Given the description of an element on the screen output the (x, y) to click on. 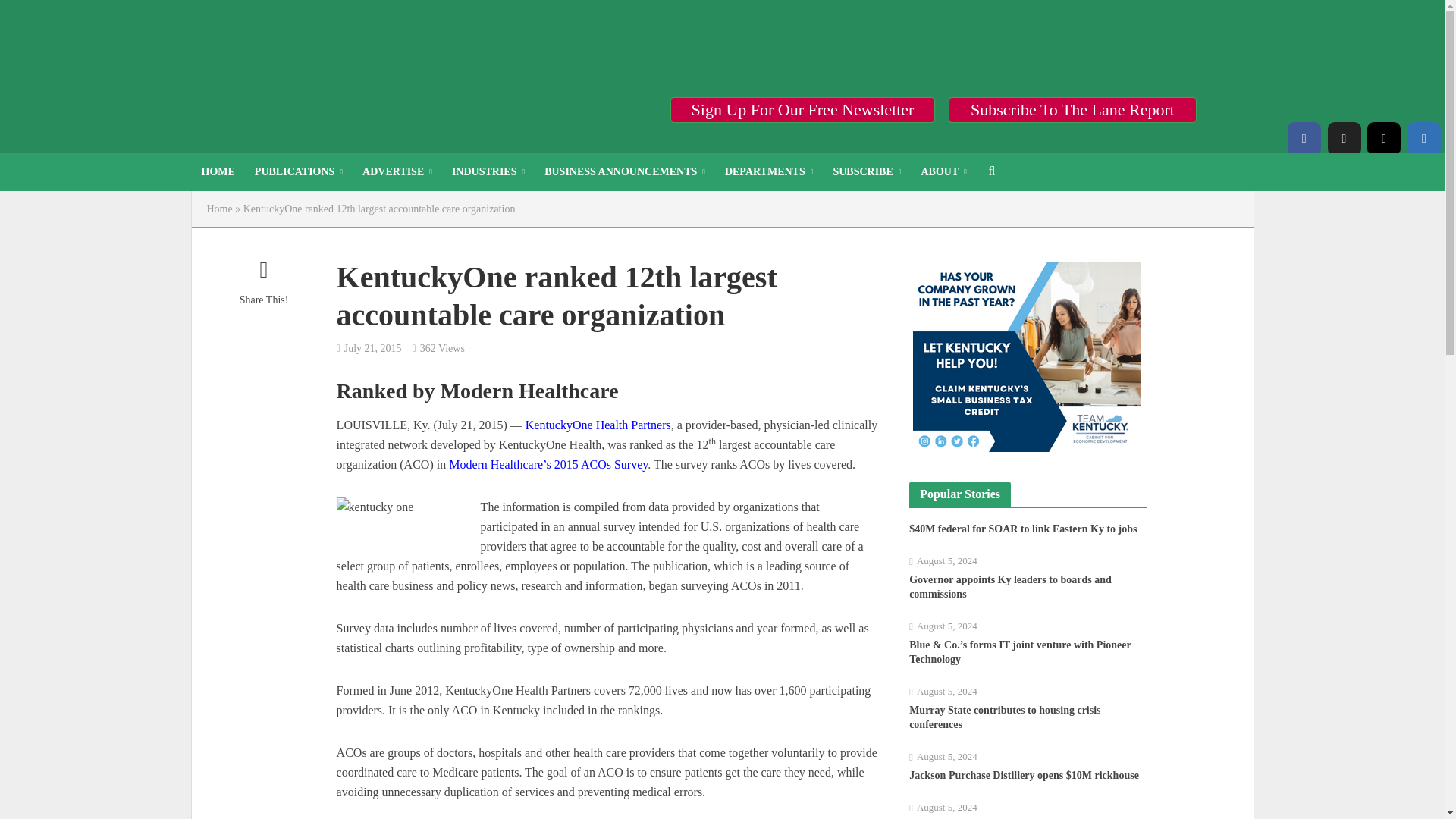
instagram (1383, 138)
INDUSTRIES (488, 171)
twitter (1342, 138)
Instagram (1383, 138)
Subscribe To The Lane Report (1072, 109)
Facebook (1303, 138)
Sign up for the Faster Lane business newsletter! (802, 109)
PUBLICATIONS (298, 171)
HOME (217, 171)
Subscribe To The Lane Report (1072, 109)
Sign Up For Our Free Newsletter (802, 109)
linkedin (1424, 138)
facebook (1303, 138)
Linkedin (1424, 138)
ADVERTISE (397, 171)
